Given the description of an element on the screen output the (x, y) to click on. 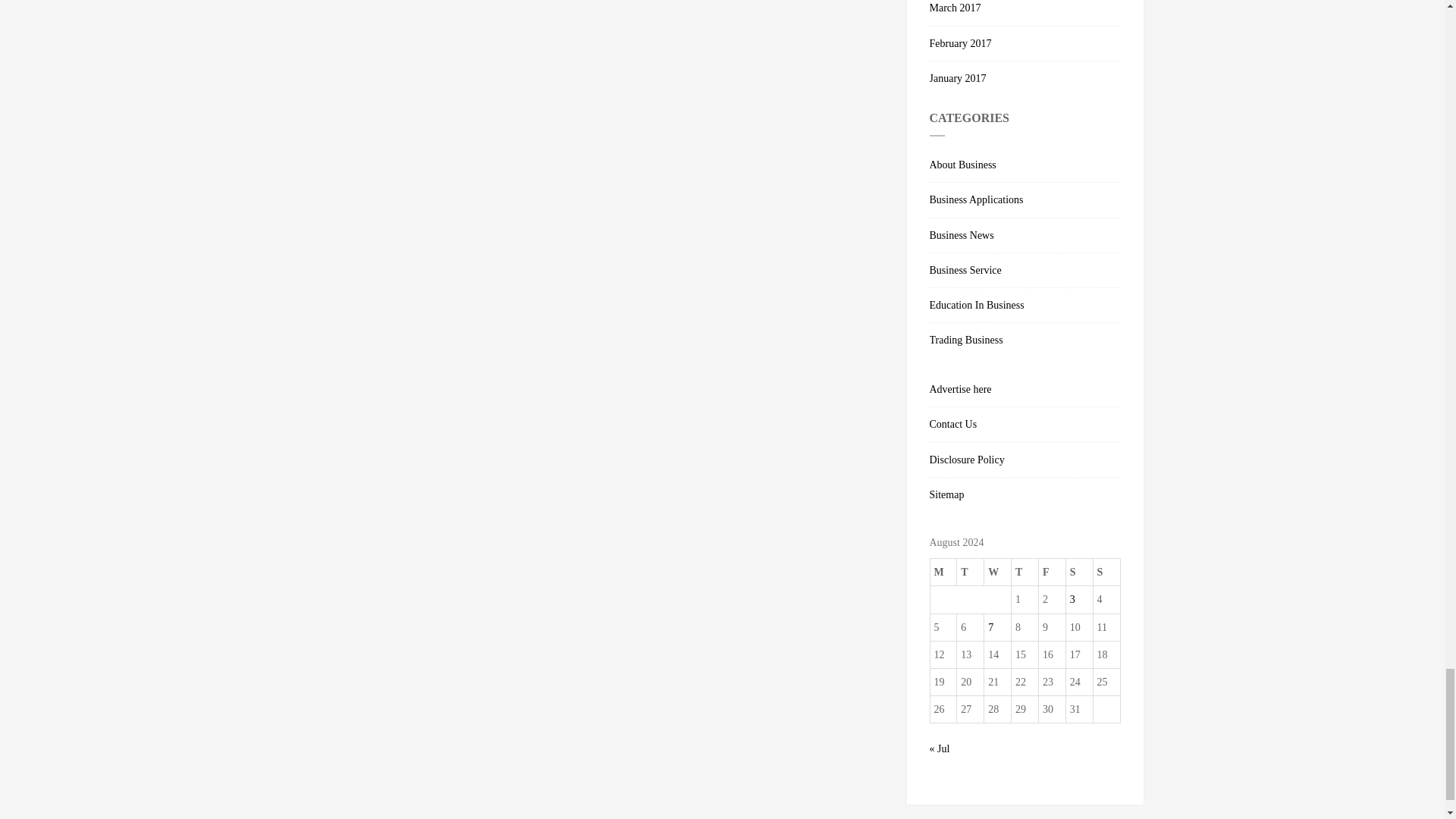
Thursday (1025, 572)
Monday (943, 572)
Wednesday (997, 572)
Tuesday (970, 572)
Friday (1051, 572)
Sunday (1106, 572)
Saturday (1079, 572)
